Given the description of an element on the screen output the (x, y) to click on. 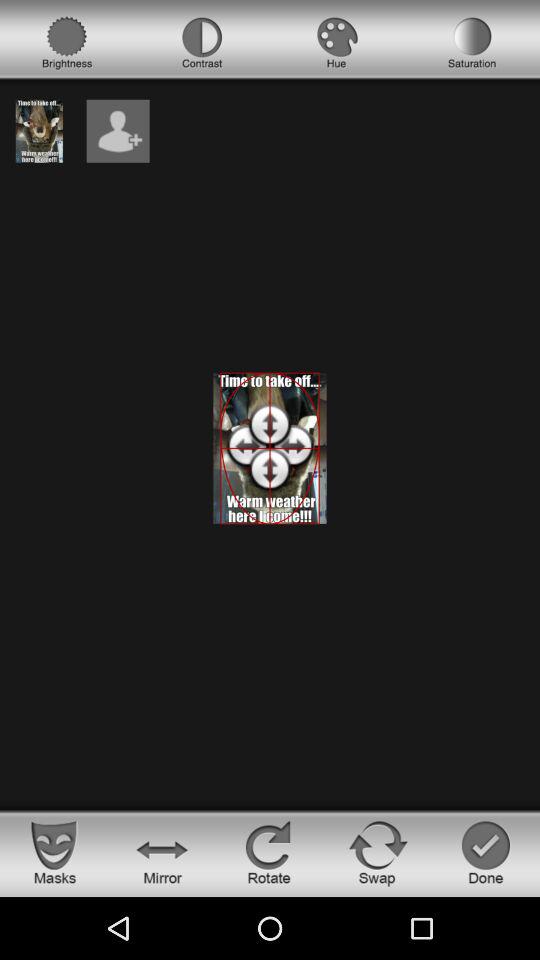
adjust saturation (472, 43)
